Given the description of an element on the screen output the (x, y) to click on. 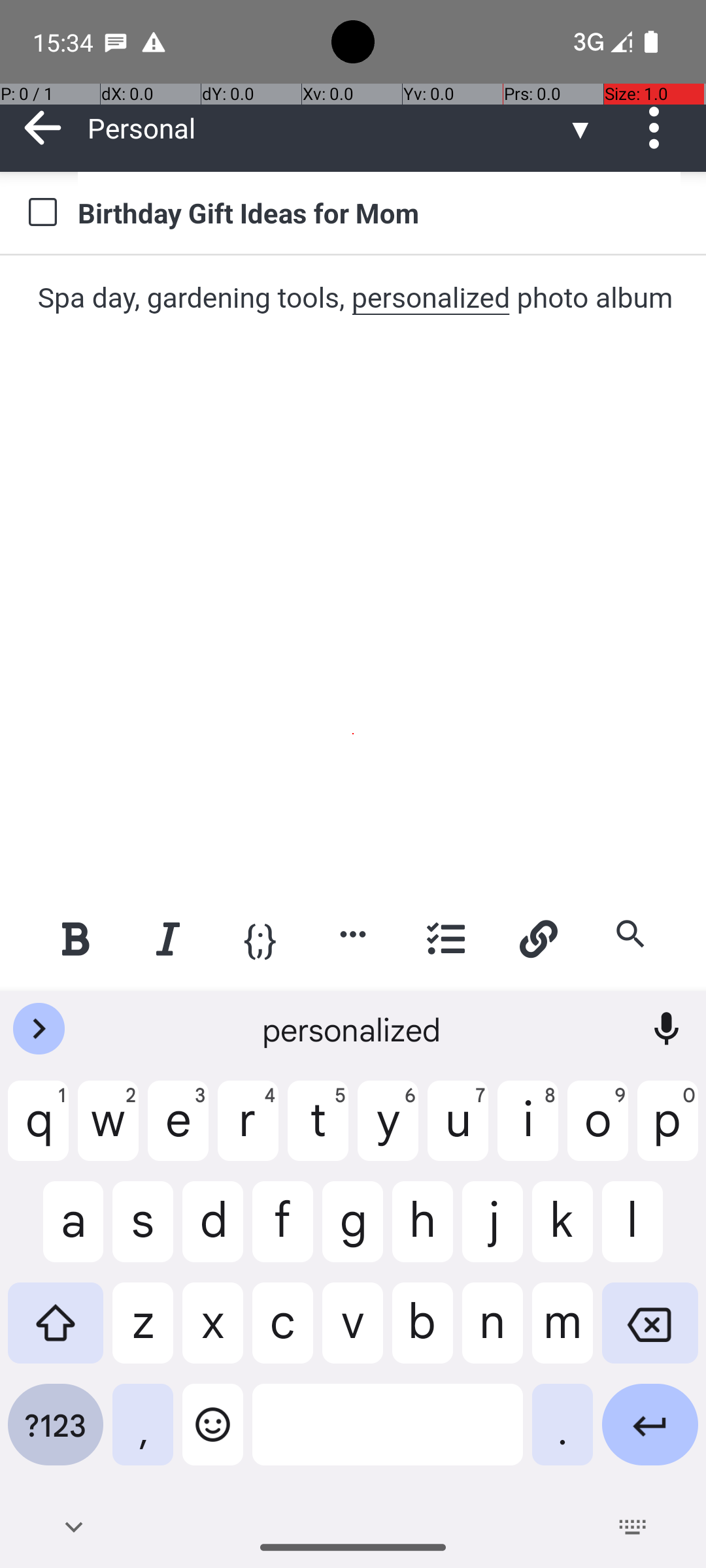
Birthday Gift Ideas for Mom Element type: android.widget.EditText (378, 212)
Find and replace Element type: android.widget.Button (630, 933)
Personal Element type: android.widget.TextView (326, 127)
Spa day, gardening tools, personalized photo album Element type: android.widget.EditText (354, 297)
personalized Element type: android.widget.FrameLayout (352, 1028)
